Given the description of an element on the screen output the (x, y) to click on. 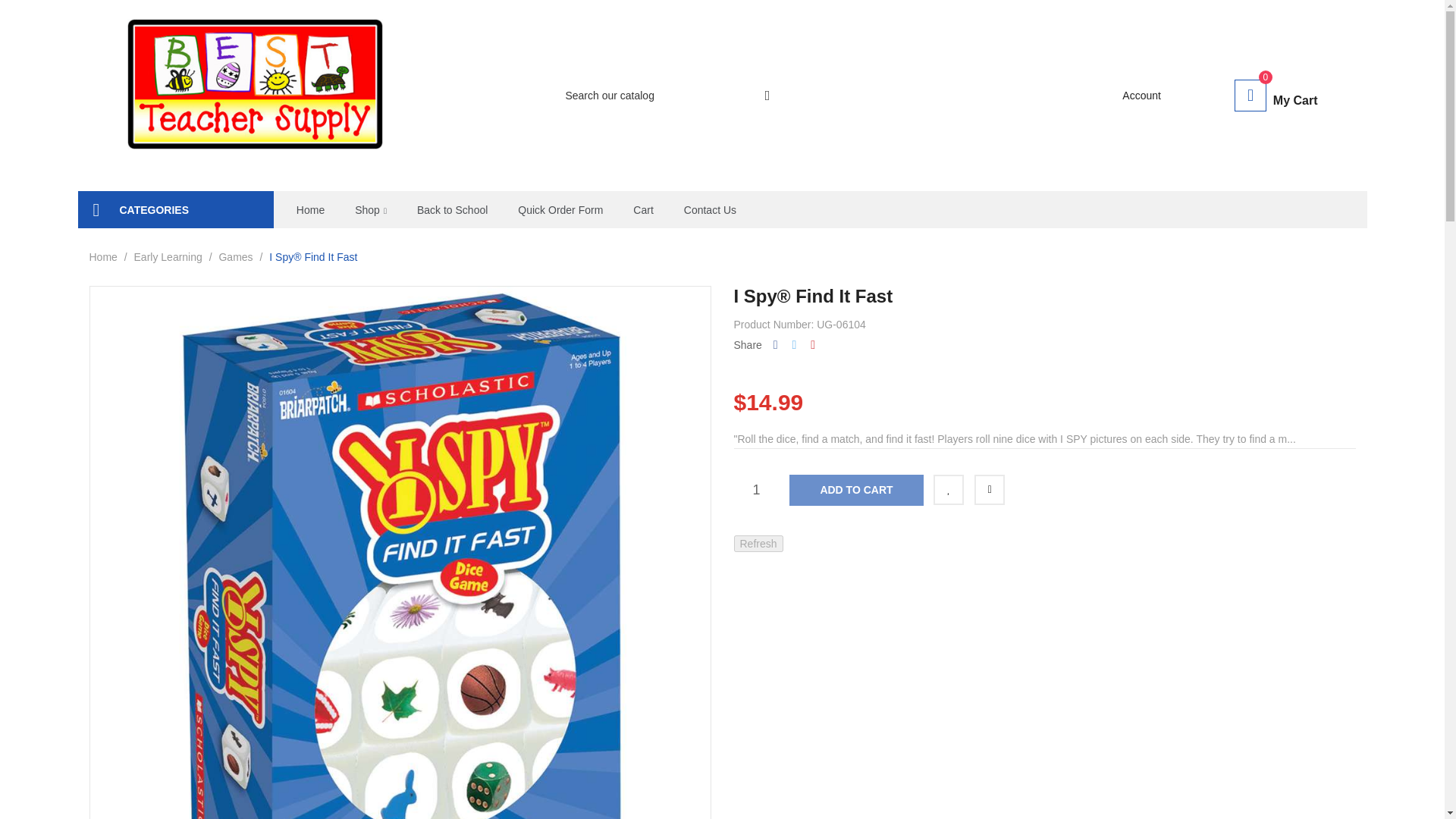
Account (1147, 95)
Best Teacher Supply (256, 95)
Add to Wishlist (948, 490)
Refresh (758, 543)
Shop (371, 209)
Add to Compare (989, 490)
Account (1147, 95)
1 (755, 489)
